Given the description of an element on the screen output the (x, y) to click on. 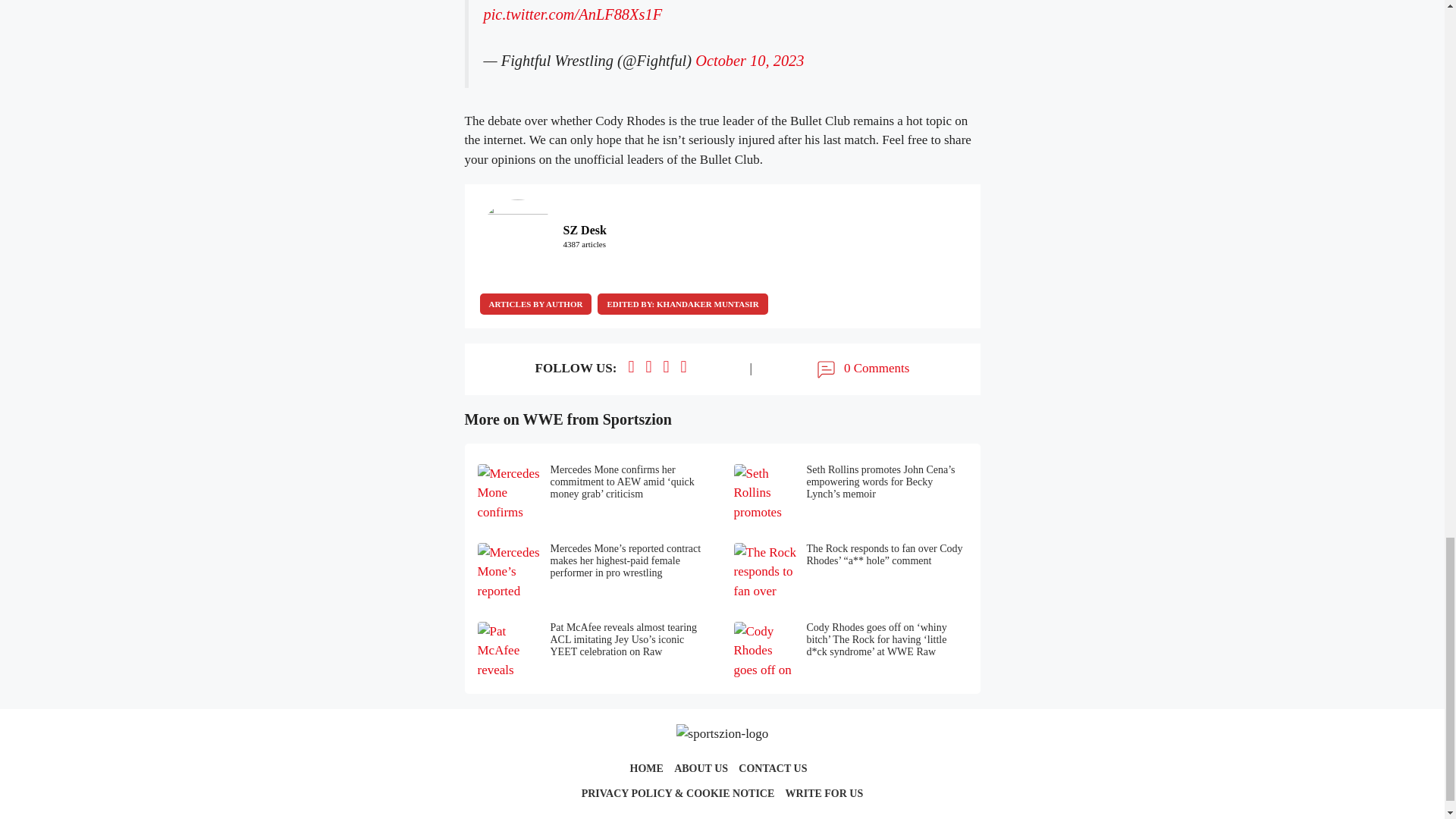
ARTICLES BY AUTHOR (535, 303)
October 10, 2023 (749, 60)
EDITED BY: KHANDAKER MUNTASIR (681, 303)
0 Comments (861, 369)
